Given the description of an element on the screen output the (x, y) to click on. 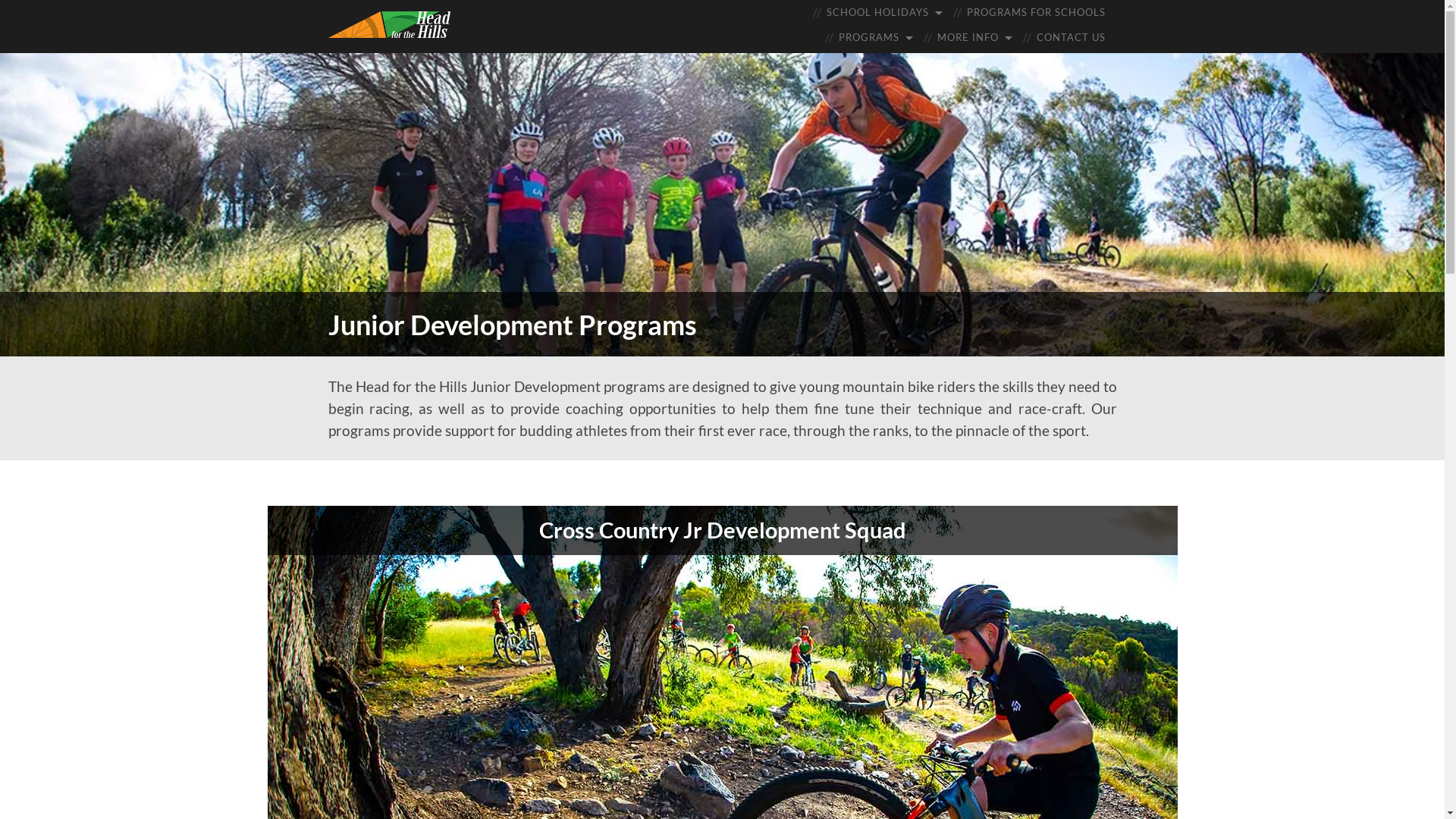
SCHOOL HOLIDAYS Element type: text (884, 12)
CONTACT US Element type: text (1071, 37)
PROGRAMS Element type: text (875, 37)
PROGRAMS FOR SCHOOLS Element type: text (1036, 12)
MORE INFO Element type: text (974, 37)
